Given the description of an element on the screen output the (x, y) to click on. 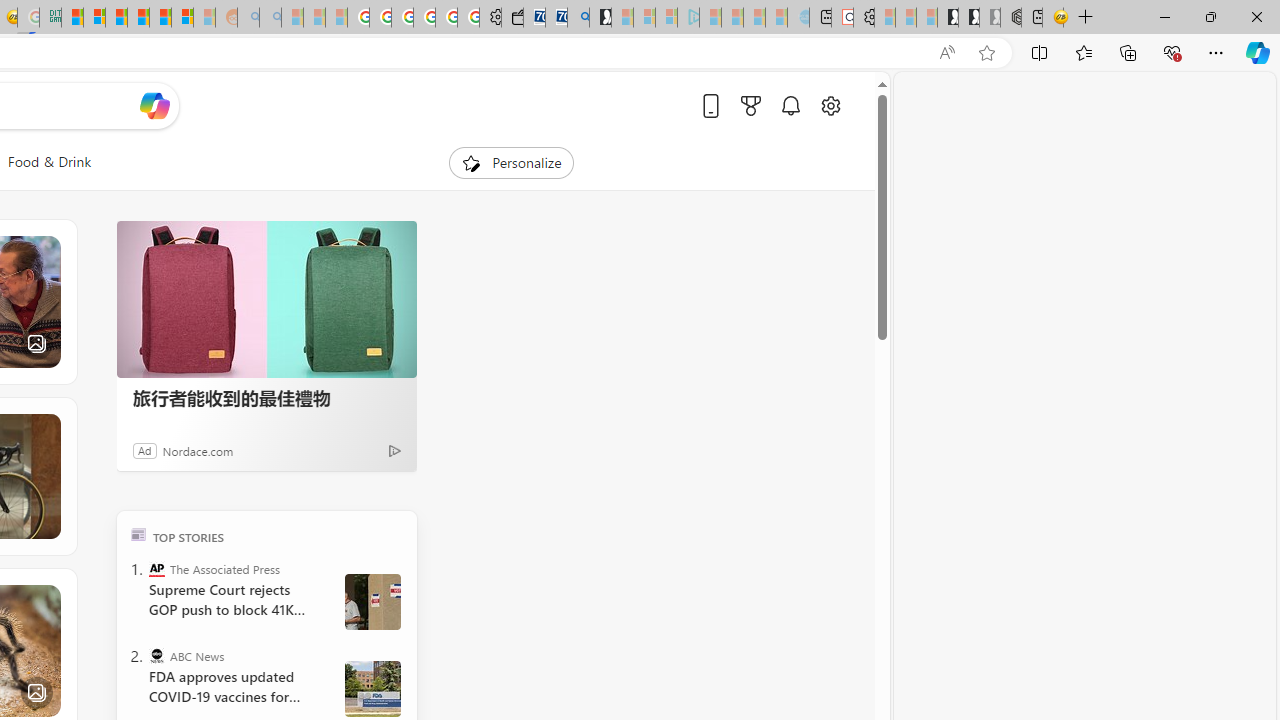
Expert Portfolios (138, 17)
